Given the description of an element on the screen output the (x, y) to click on. 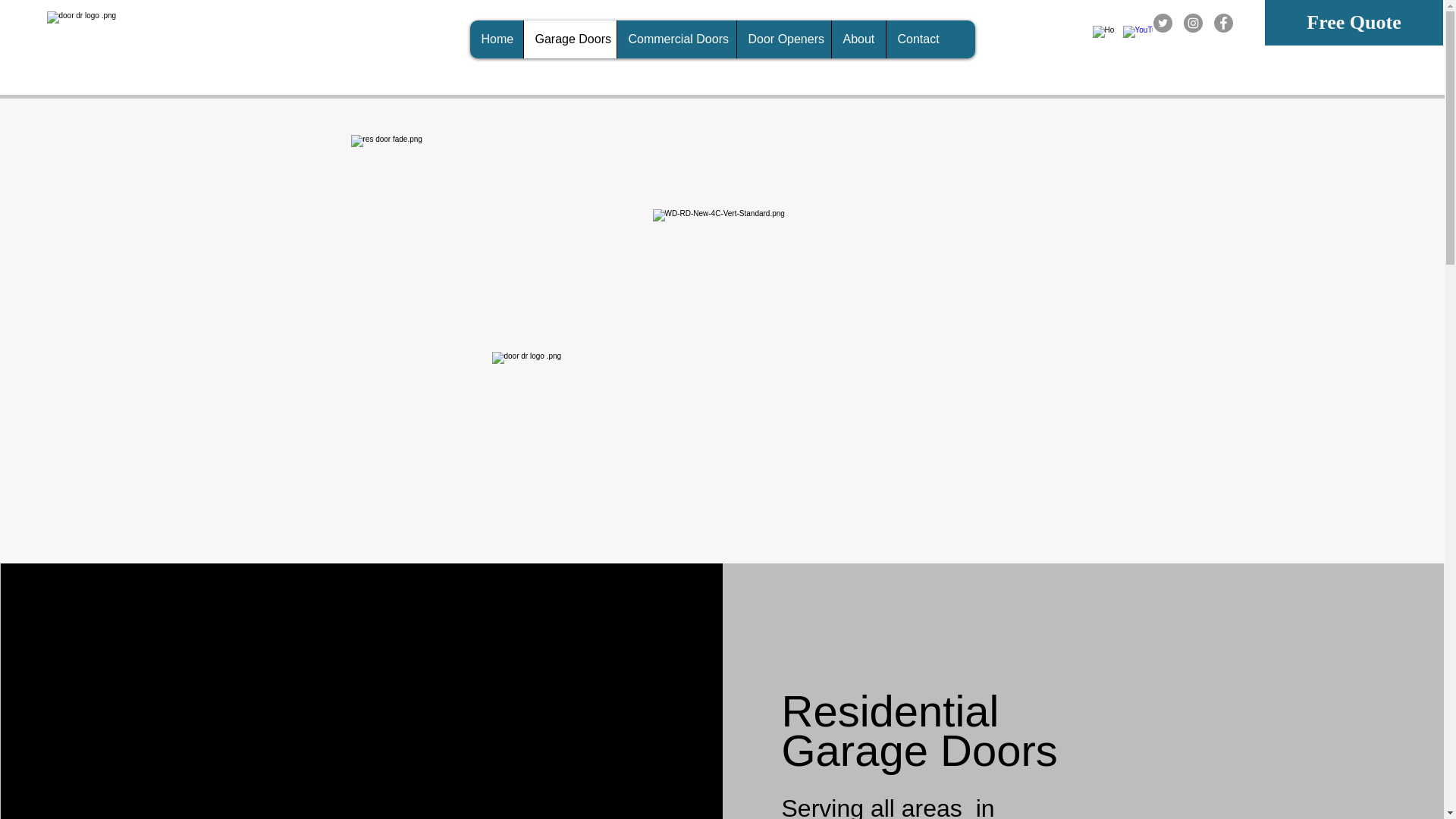
Contact (917, 39)
Commercial Doors (675, 39)
Home (496, 39)
Free Quote (1353, 22)
About (858, 39)
Door Openers (782, 39)
Garage Doors (568, 39)
